Given the description of an element on the screen output the (x, y) to click on. 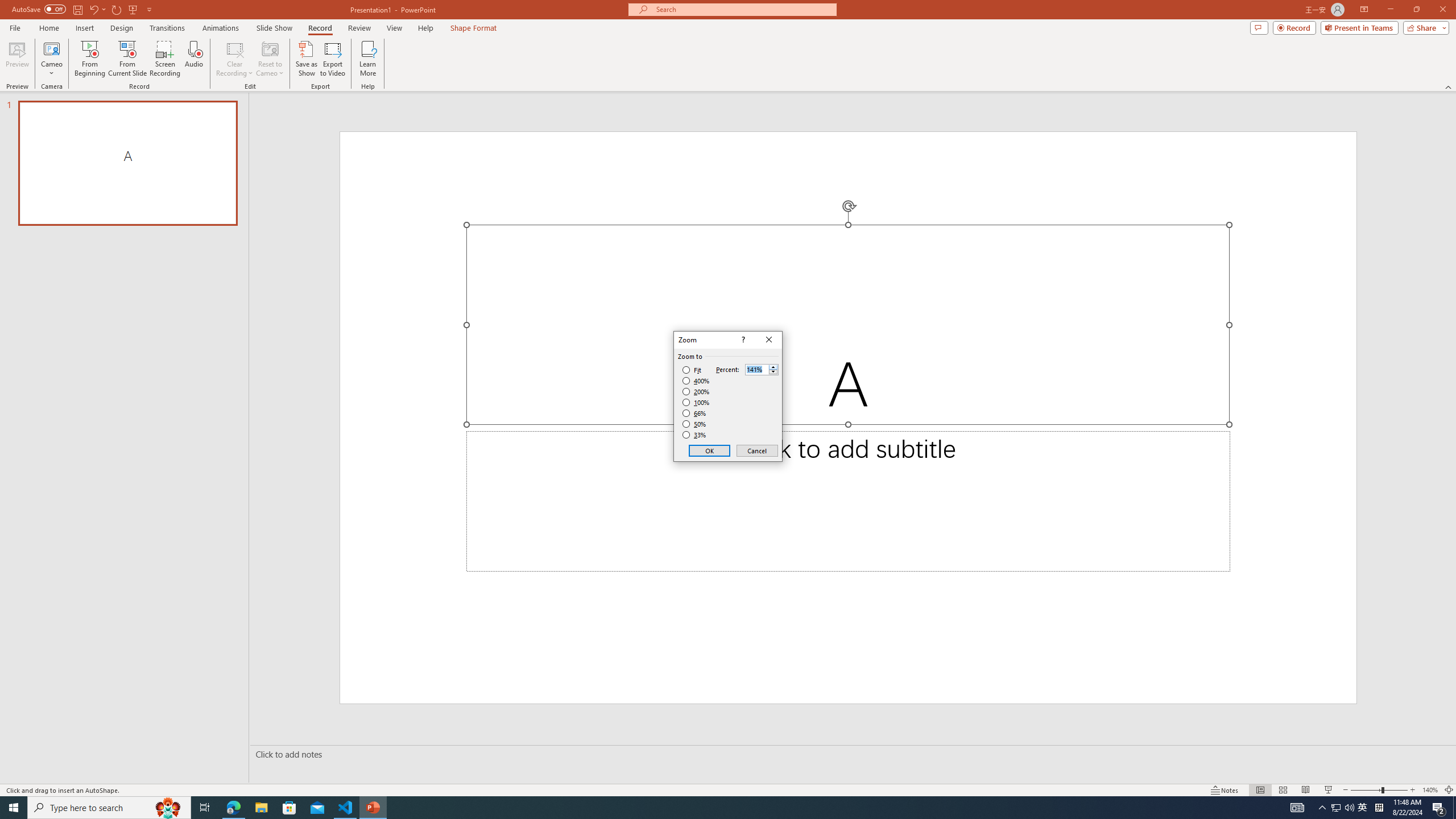
66% (694, 412)
OK (709, 450)
Zoom 140% (1430, 790)
Percent (761, 369)
Cancel (756, 450)
33% (694, 434)
